Given the description of an element on the screen output the (x, y) to click on. 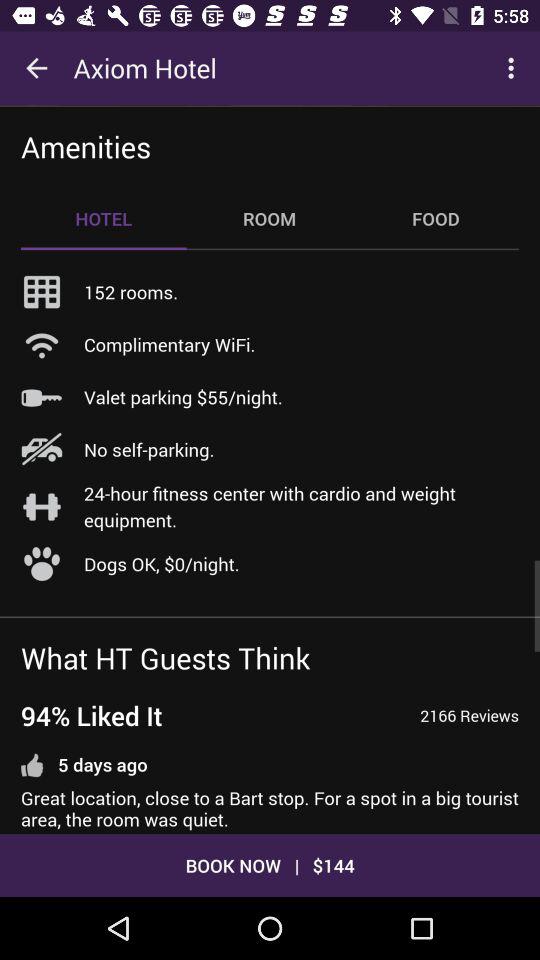
press icon at the bottom right corner (469, 715)
